Given the description of an element on the screen output the (x, y) to click on. 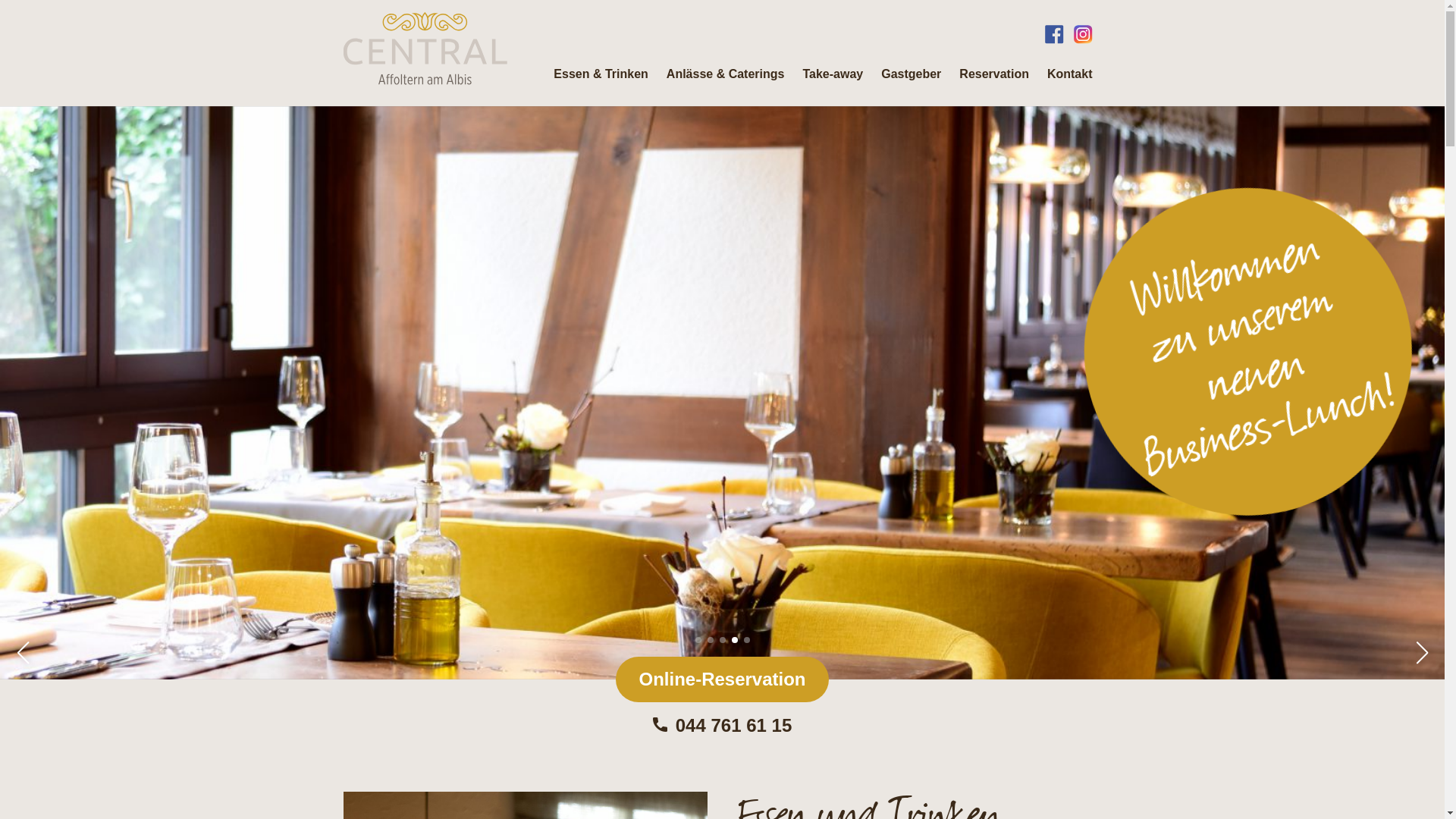
Facebook Element type: text (1053, 33)
Instagram Element type: text (1082, 33)
Online-Reservation Element type: text (721, 679)
Gastgeber Element type: text (911, 74)
Reservation Element type: text (994, 74)
Zur Hauptnavigation springen Element type: text (0, 0)
Take-away Element type: text (832, 74)
Kontakt Element type: text (1069, 74)
Essen & Trinken Element type: text (600, 74)
044 761 61 15 Element type: text (721, 724)
